Given the description of an element on the screen output the (x, y) to click on. 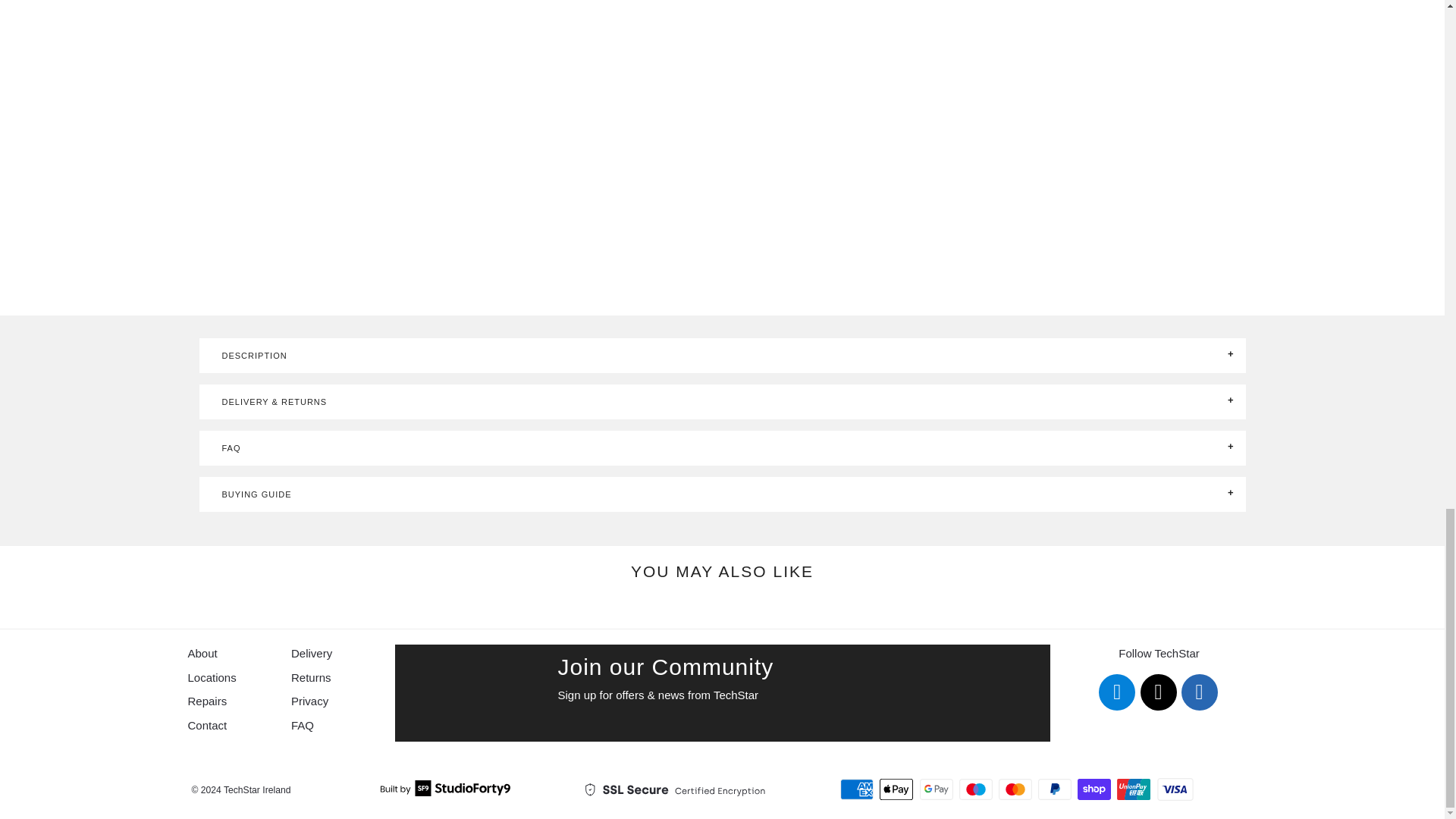
TechStar on Instagram (1158, 692)
Designed and Developed at StudioForty9 (445, 791)
Mastercard (1016, 789)
Visa (1175, 789)
Apple Pay (897, 789)
TechStar on Facebook (1117, 692)
Google Pay (936, 789)
PayPal (1056, 789)
Maestro (977, 789)
TechStar on LinkedIn (1198, 692)
